Given the description of an element on the screen output the (x, y) to click on. 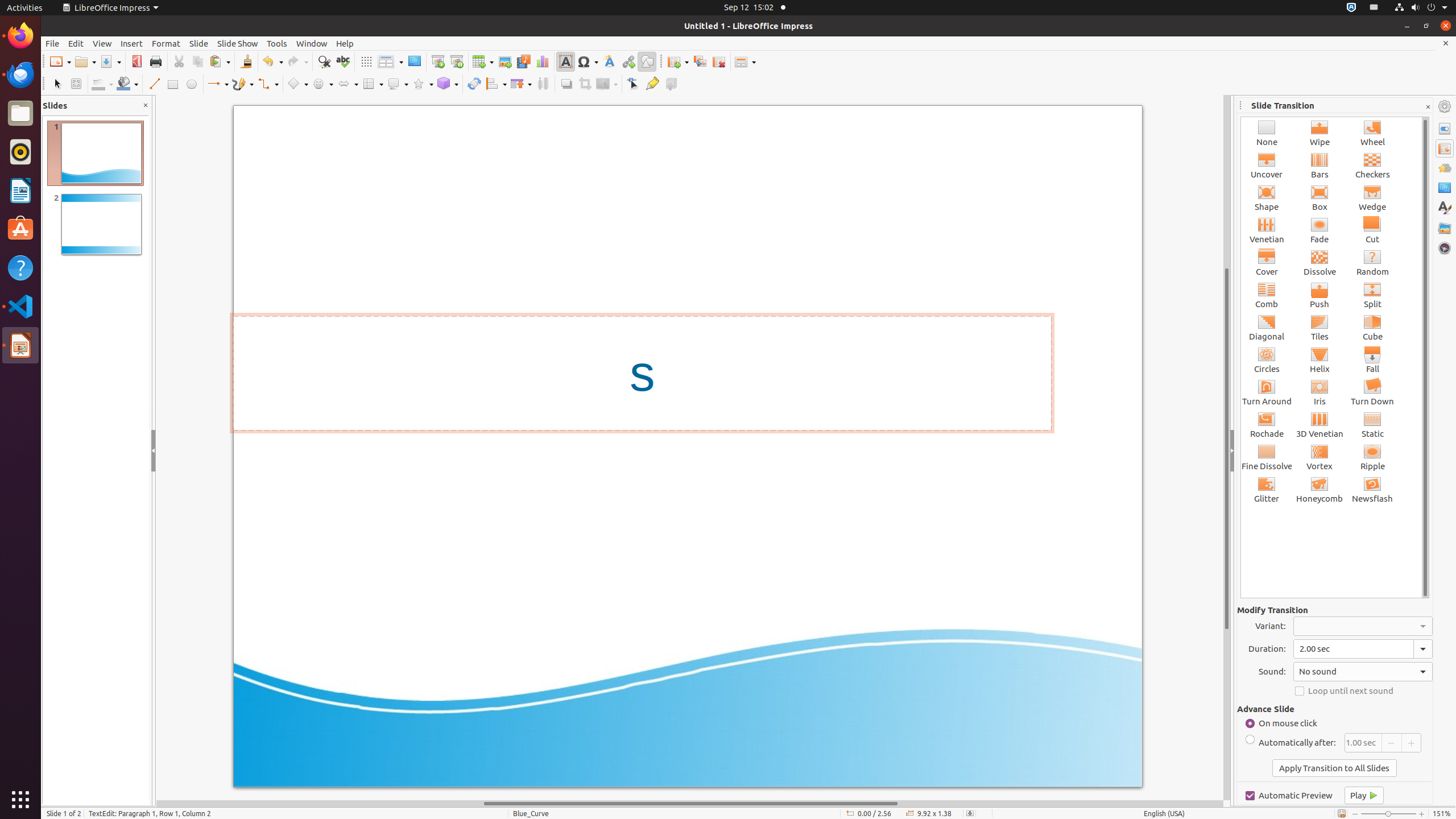
Find & Replace Element type: toggle-button (323, 61)
Random Element type: list-item (1372, 262)
Show Applications Element type: toggle-button (20, 799)
Arrow Shapes Element type: push-button (347, 83)
Circles Element type: list-item (1266, 359)
